Given the description of an element on the screen output the (x, y) to click on. 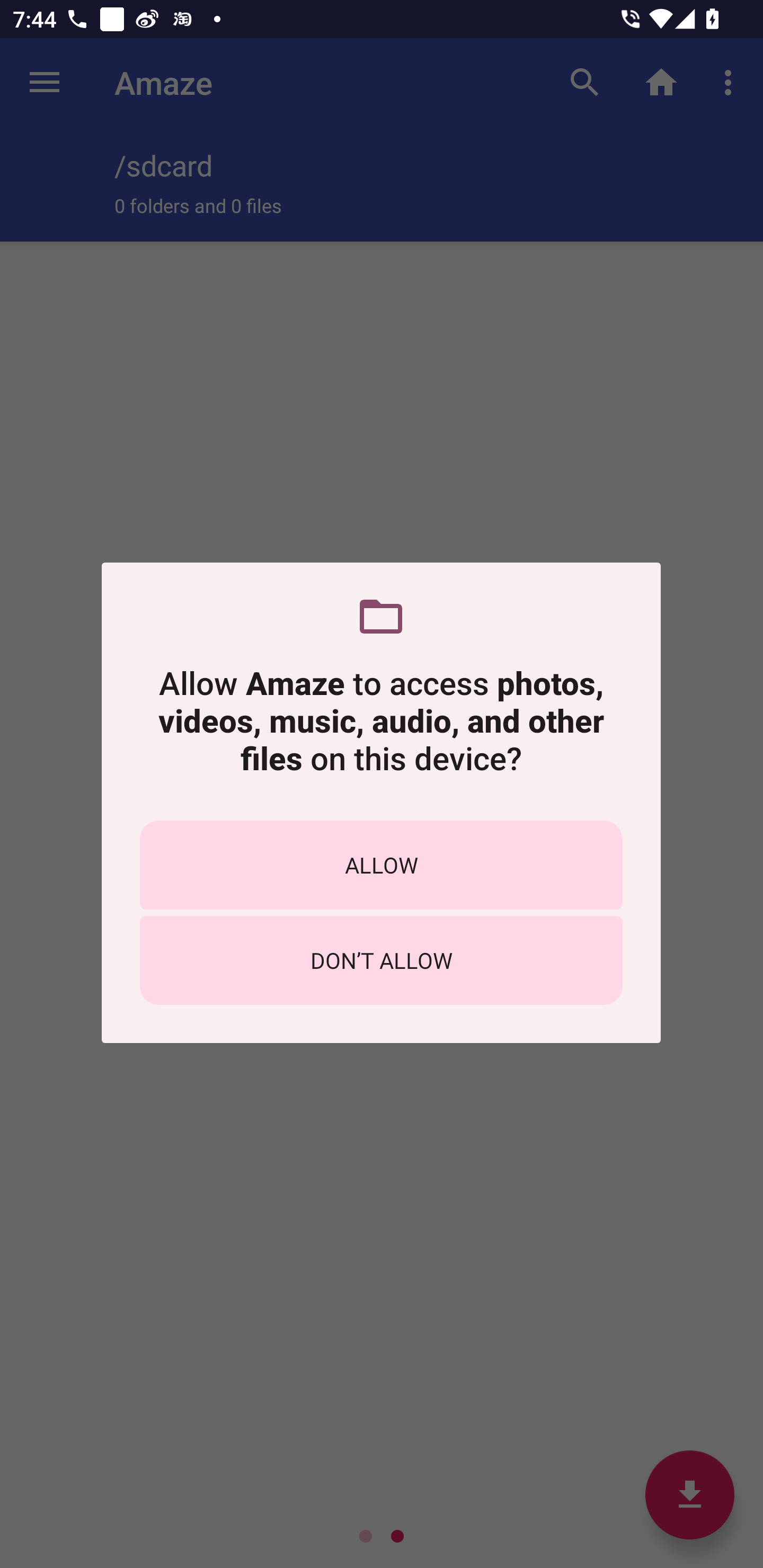
ALLOW (380, 864)
DON’T ALLOW (380, 960)
